Given the description of an element on the screen output the (x, y) to click on. 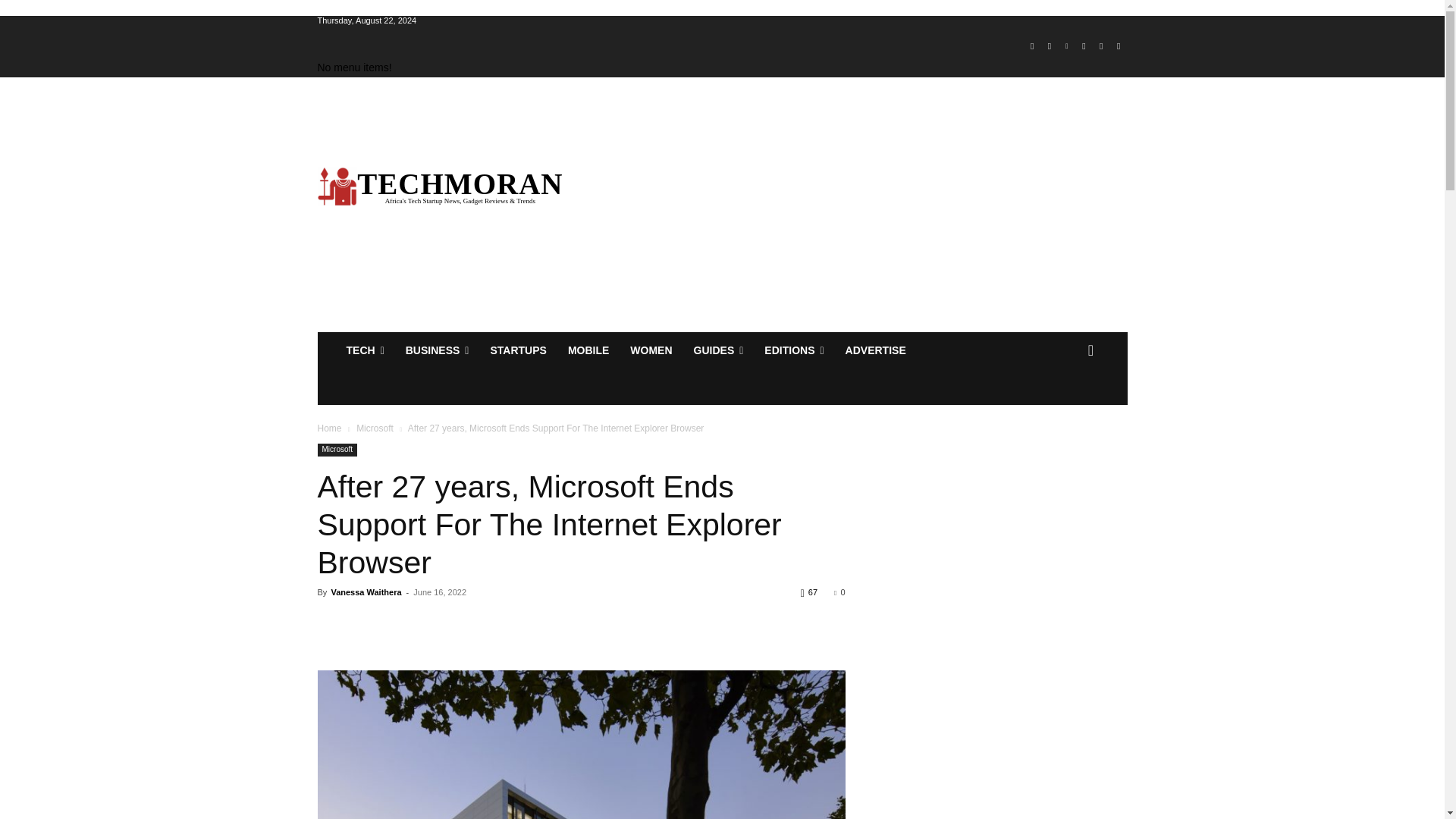
Instagram (1049, 46)
Twitter (1101, 46)
GUIDES (718, 350)
WOMEN (651, 350)
Youtube (1117, 46)
Advertisement (865, 204)
TECH (364, 350)
BUSINESS (437, 350)
Mobile (588, 350)
Linkedin (1066, 46)
